Given the description of an element on the screen output the (x, y) to click on. 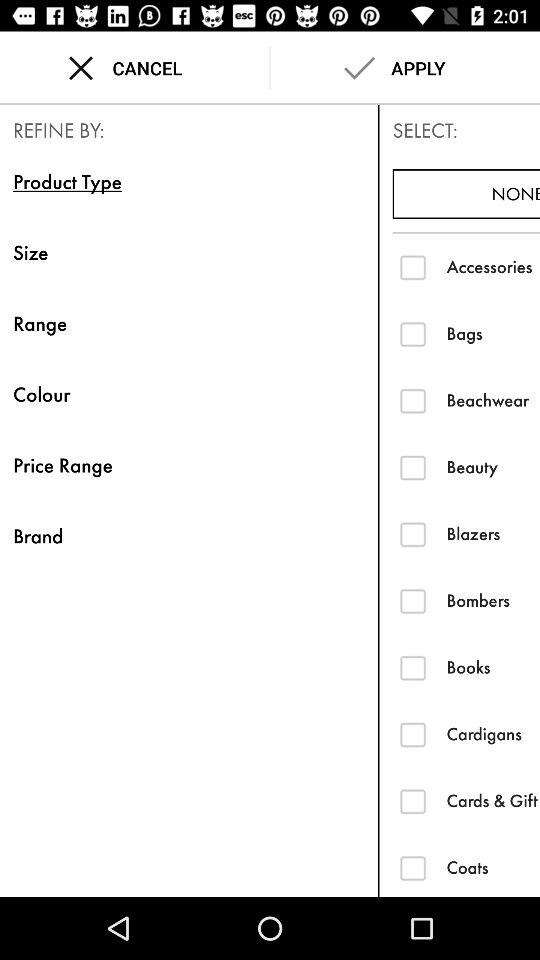
select beachwear (412, 400)
